Given the description of an element on the screen output the (x, y) to click on. 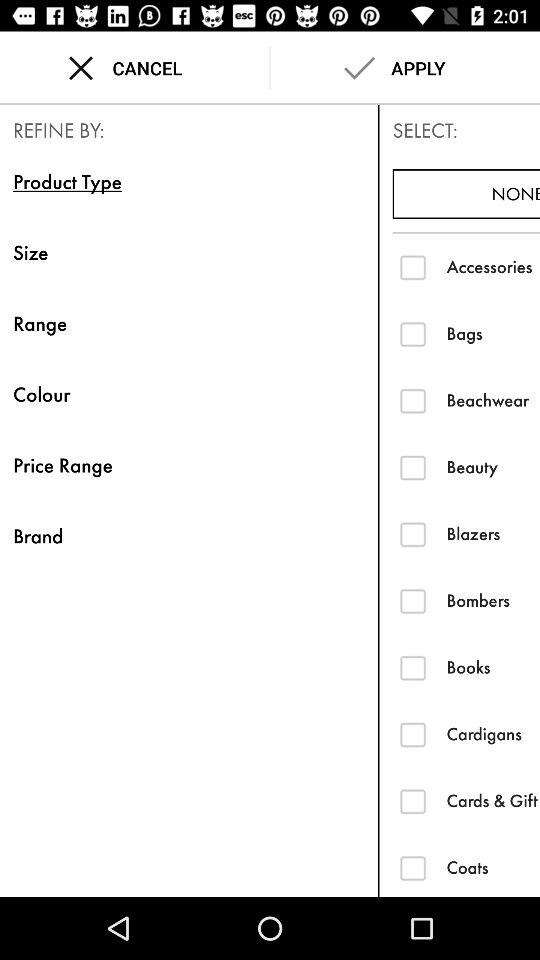
select beachwear (412, 400)
